Given the description of an element on the screen output the (x, y) to click on. 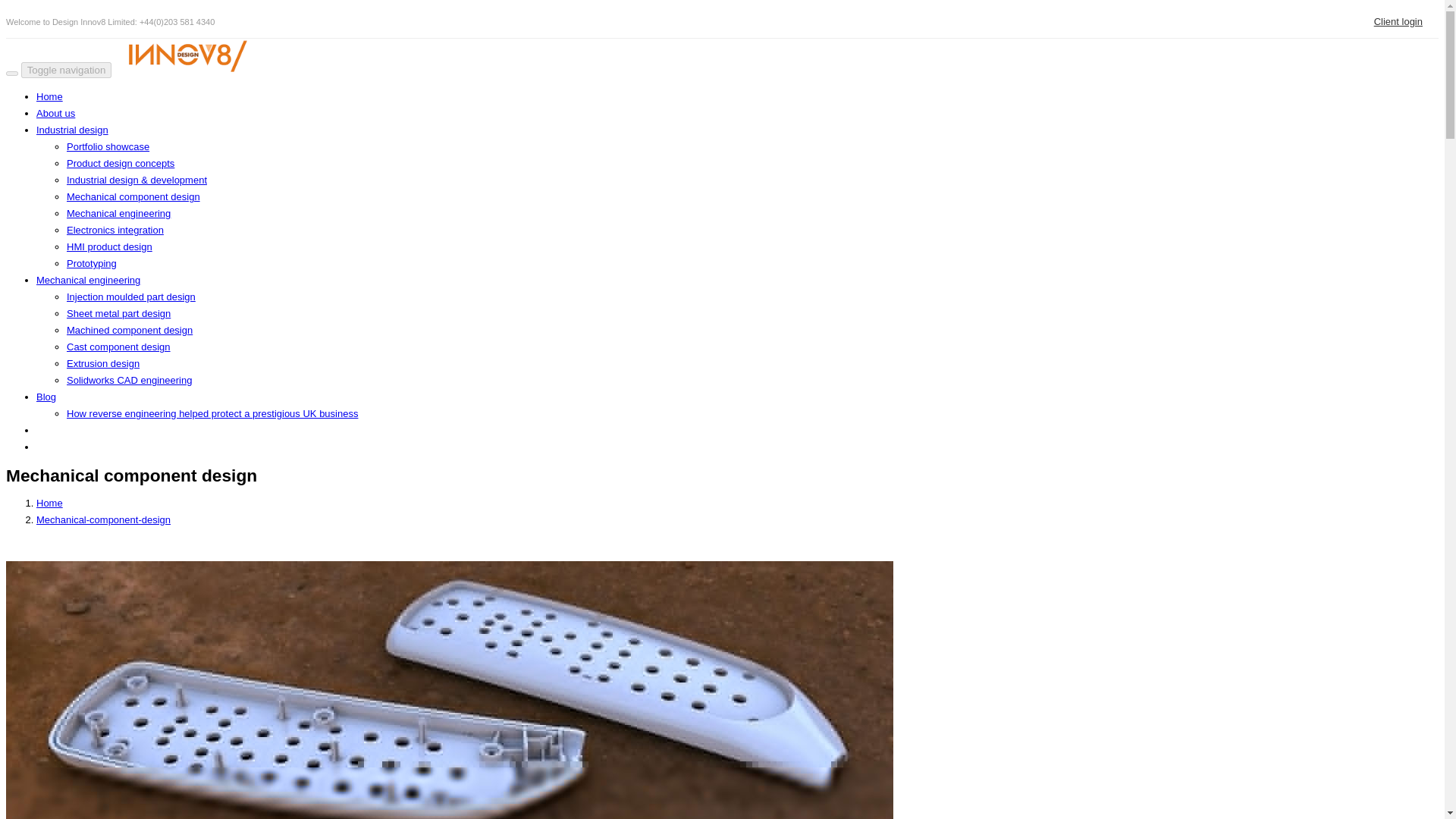
Toggle navigation (66, 69)
Mechanical-component-design (103, 519)
Mechanical engineering (118, 213)
Blog (46, 396)
Portfolio showcase (107, 146)
Extrusion design (102, 363)
Injection moulded part design (130, 296)
Home (49, 502)
Sheet metal part design (118, 313)
Mechanical component design (133, 196)
Prototyping (91, 263)
Electronics integration (114, 229)
Cast component design (118, 346)
Solidworks CAD engineering (129, 379)
HMI product design (109, 246)
